Given the description of an element on the screen output the (x, y) to click on. 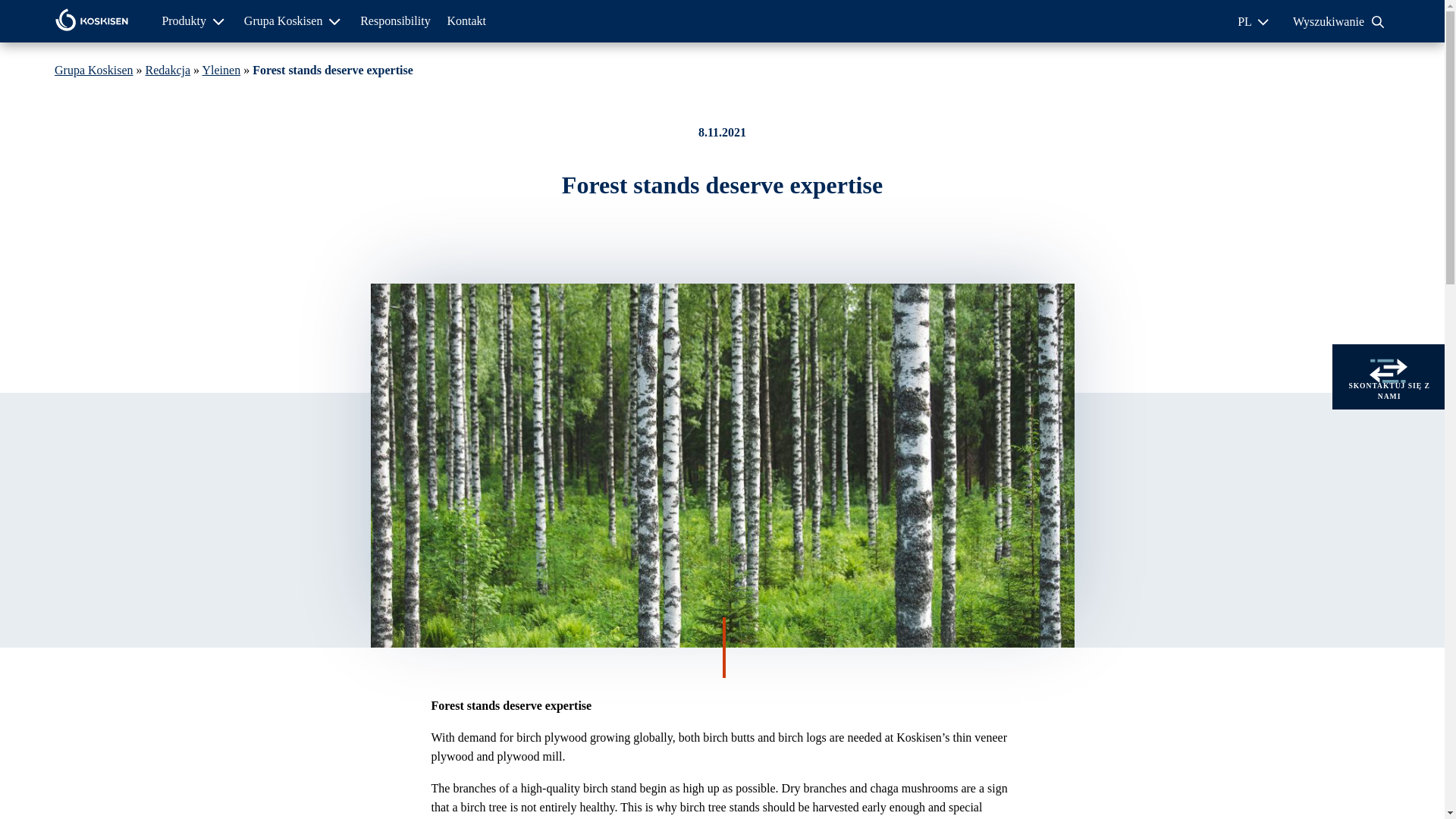
Yleinen (221, 69)
Responsibility (394, 20)
Produkty (183, 20)
Redakcja (167, 69)
Grupa Koskisen (94, 69)
Grupa Koskisen (283, 20)
Facebook (707, 251)
LinkedIn (739, 251)
Submenu: Grupa Koskisen (333, 21)
Kontakt (466, 20)
